Given the description of an element on the screen output the (x, y) to click on. 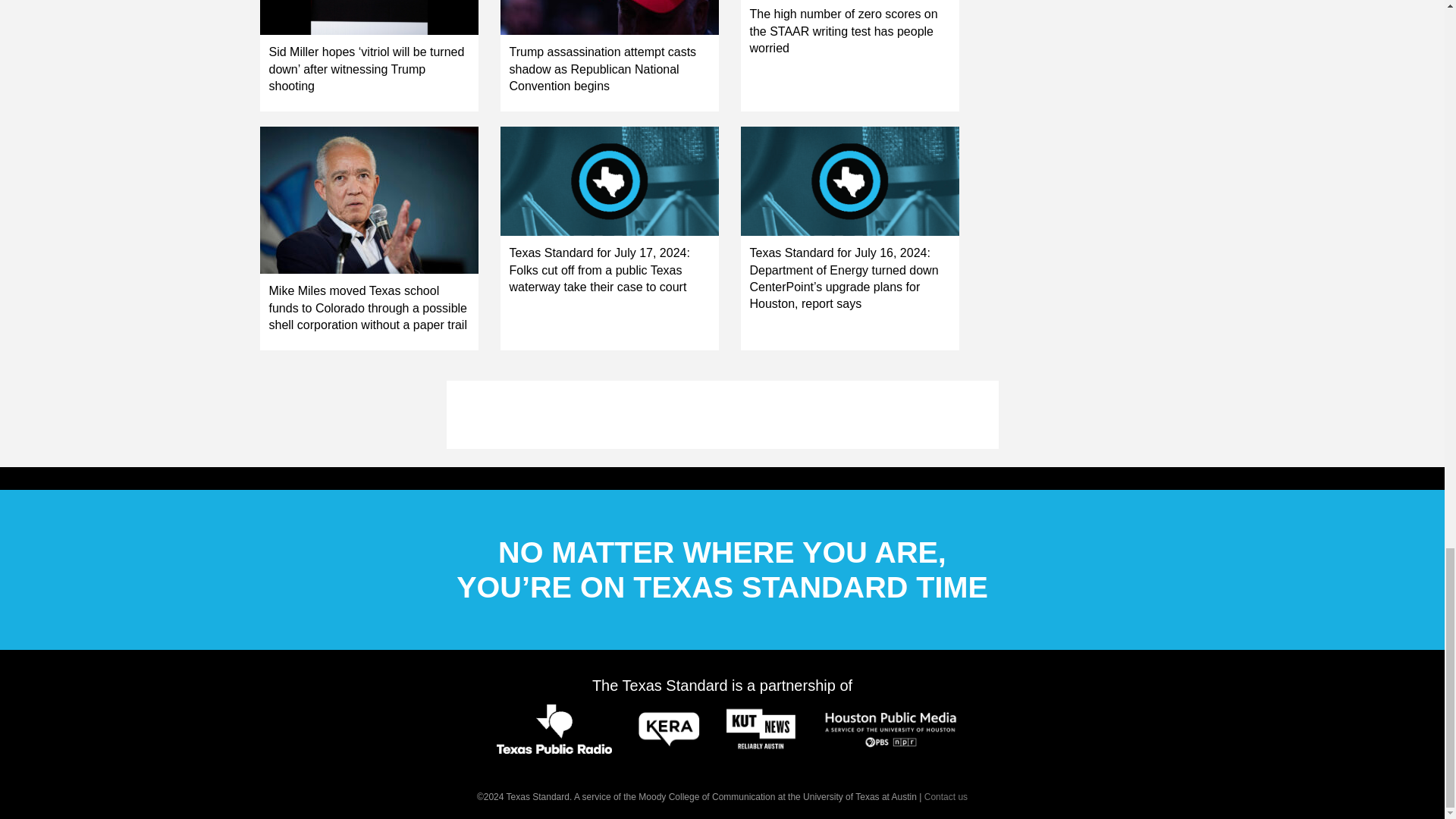
3rd party ad content (721, 414)
